Given the description of an element on the screen output the (x, y) to click on. 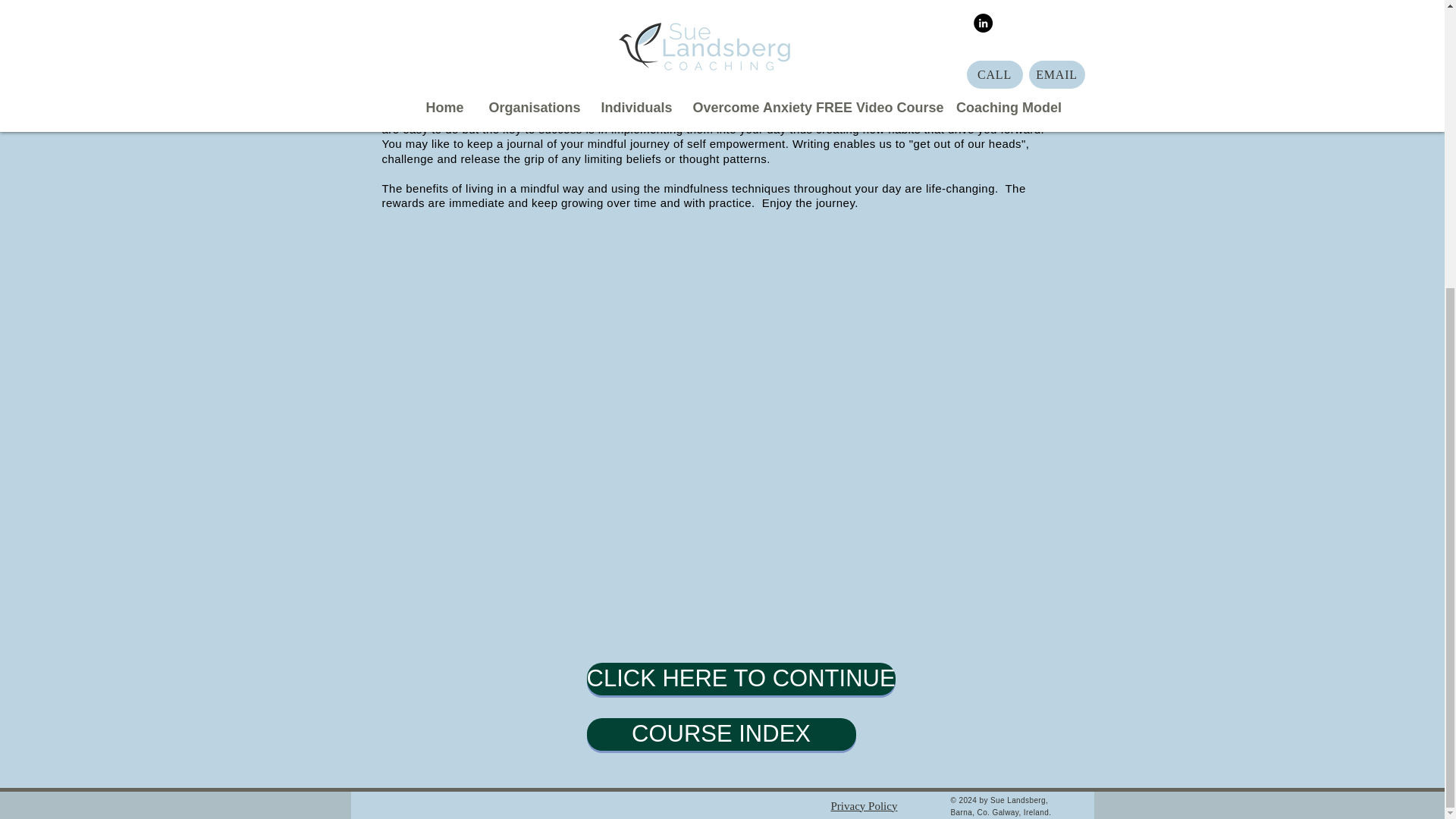
Privacy Policy (864, 369)
CLICK HERE TO CONTINUE (740, 678)
COURSE INDEX (721, 733)
